Given the description of an element on the screen output the (x, y) to click on. 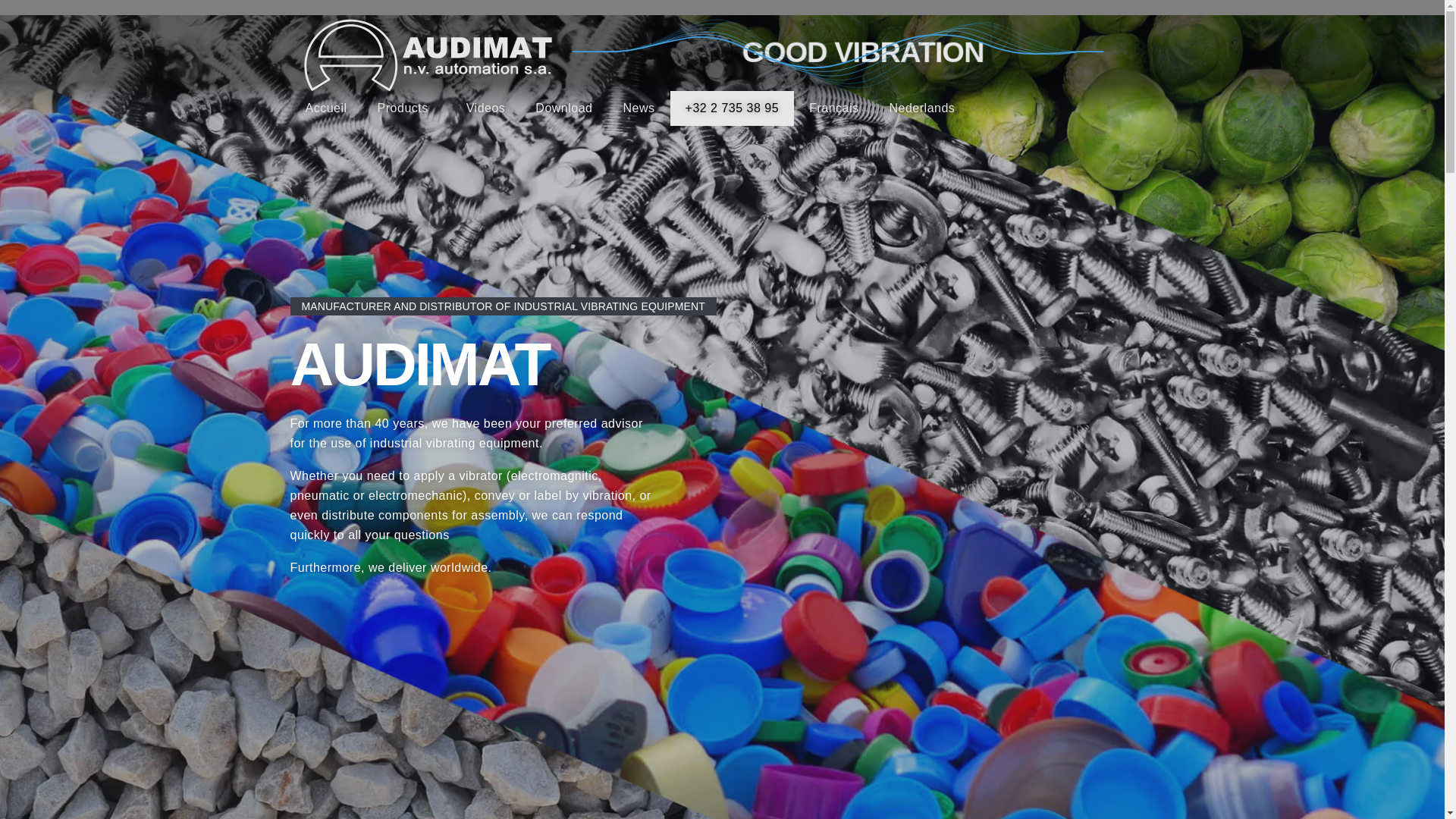
Products Element type: text (406, 108)
Download Element type: text (563, 108)
Videos Element type: text (485, 108)
+32 2 735 38 95 Element type: text (732, 108)
Nederlands Element type: text (921, 108)
Accueil Element type: text (325, 108)
News Element type: text (639, 108)
